Given the description of an element on the screen output the (x, y) to click on. 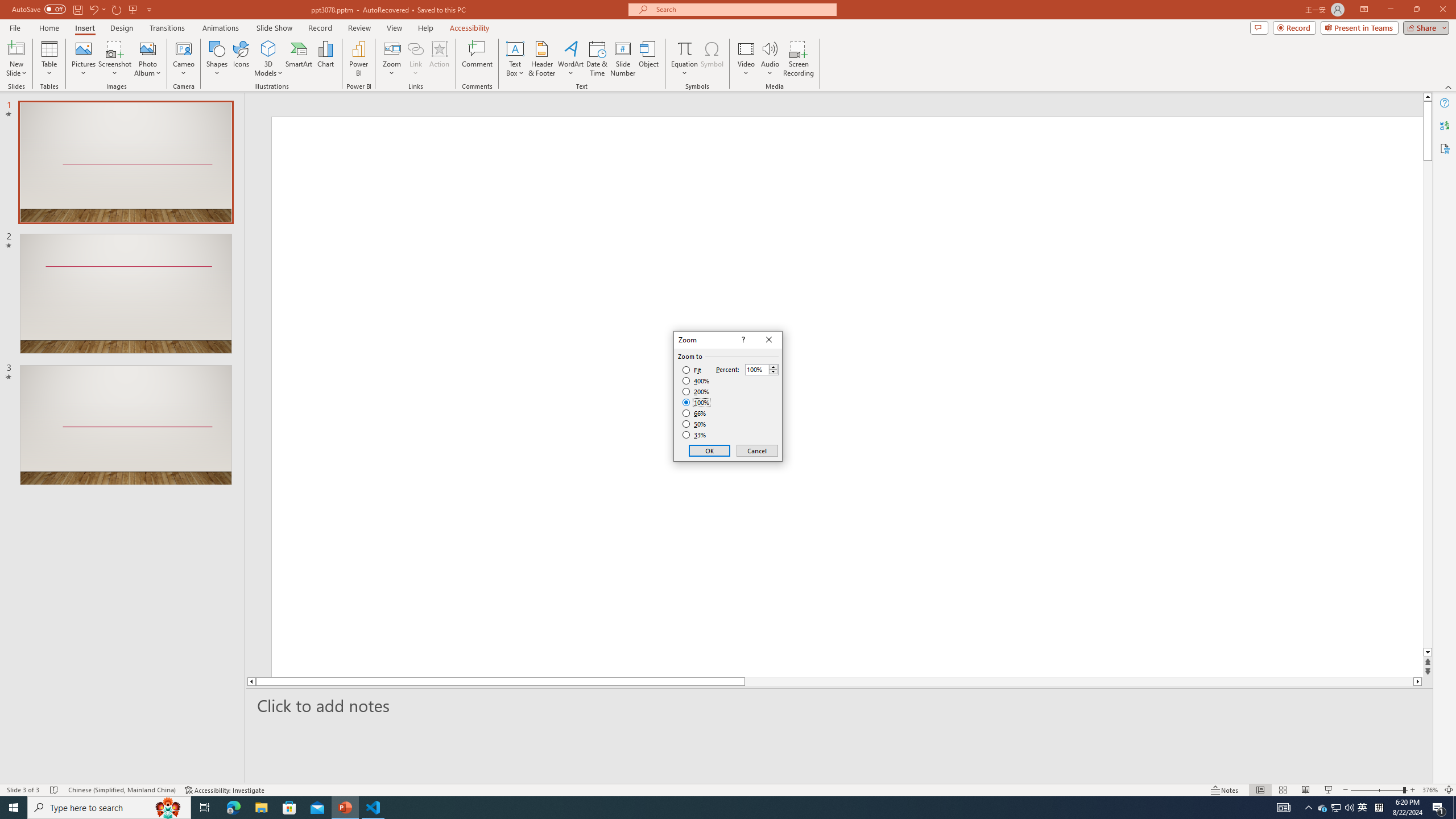
Header & Footer... (541, 58)
New Photo Album... (147, 48)
100% (696, 402)
Chart... (325, 58)
